Given the description of an element on the screen output the (x, y) to click on. 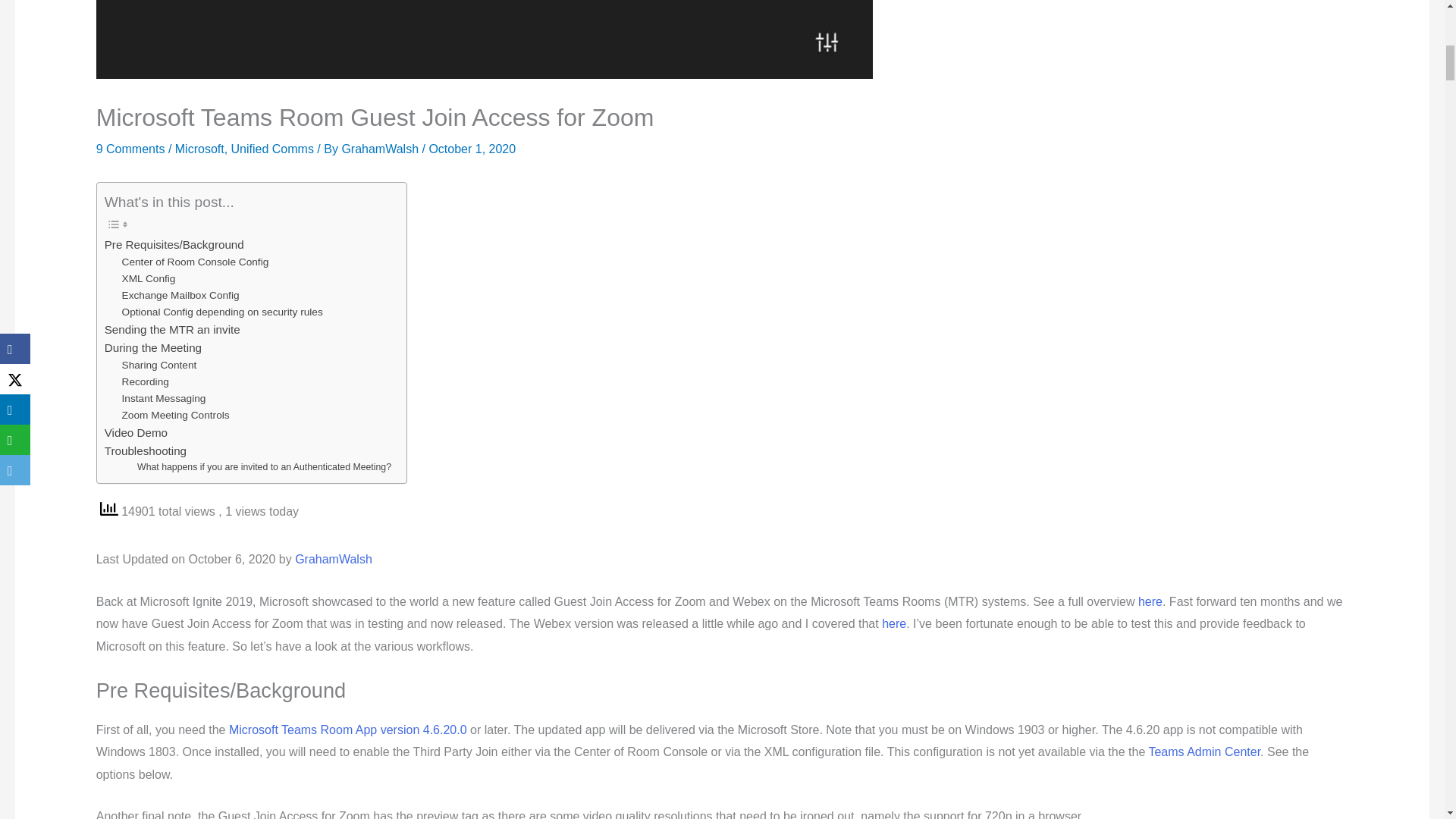
Optional Config depending on security rules (222, 312)
Video Demo (135, 433)
XML Config (149, 279)
Unified Comms (272, 148)
Center of Room Console Config (195, 262)
Optional Config depending on security rules (222, 312)
Microsoft (199, 148)
Center of Room Console Config (195, 262)
here (1149, 601)
Instant Messaging (164, 398)
Exchange Mailbox Config (181, 295)
View all posts by GrahamWalsh (381, 148)
here (893, 623)
GrahamWalsh (381, 148)
Recording (145, 381)
